Given the description of an element on the screen output the (x, y) to click on. 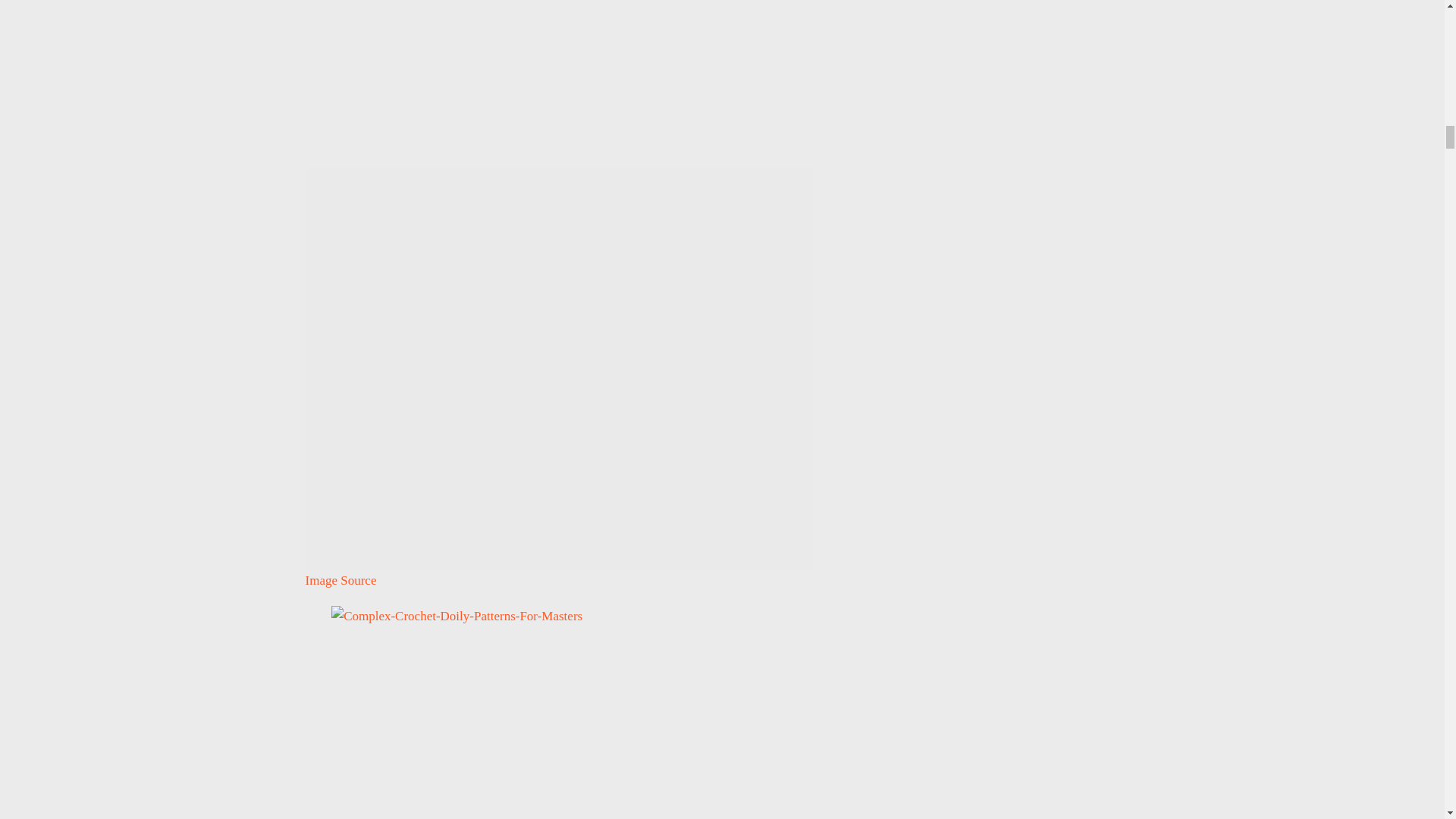
Image Source (339, 580)
